Given the description of an element on the screen output the (x, y) to click on. 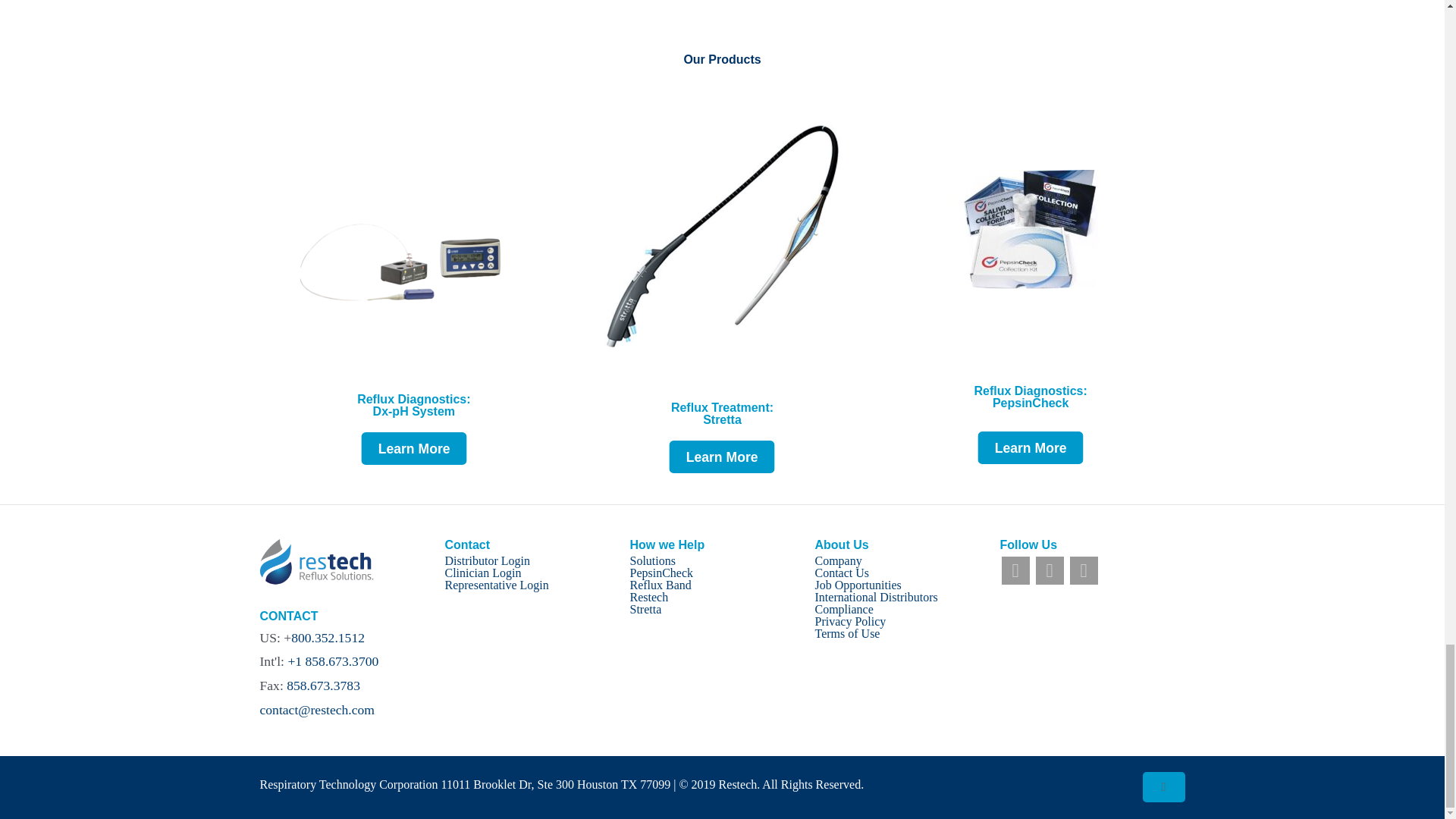
Solutions (651, 560)
Learn More (409, 446)
Distributor Login (486, 560)
Reflux Band (659, 584)
Learn More (1026, 446)
Learn More (717, 455)
Representative Login (496, 584)
800.352.1512 (328, 637)
858.673.3783 (322, 685)
PepsinCheck (660, 572)
